Given the description of an element on the screen output the (x, y) to click on. 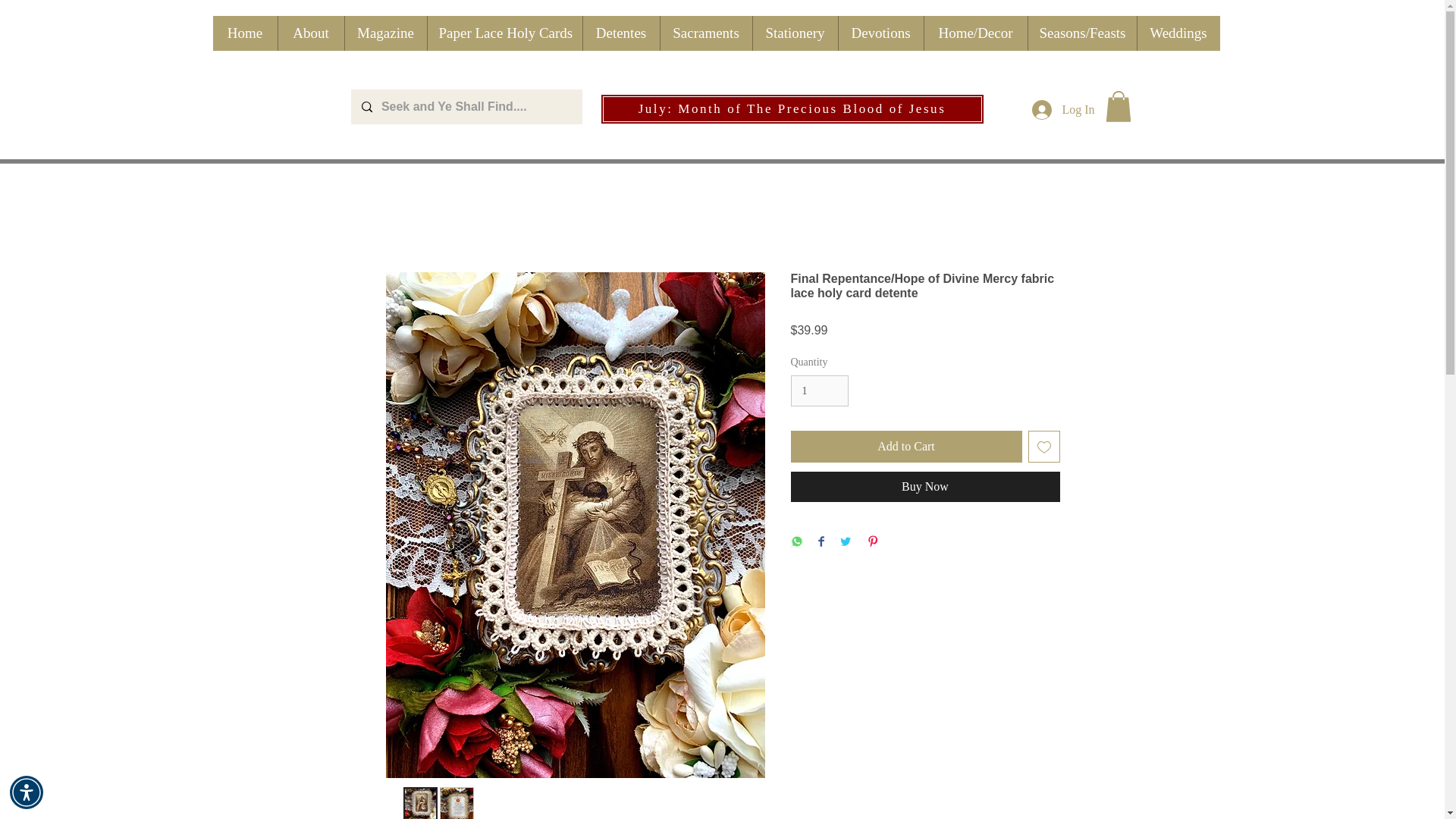
Accessibility Menu (26, 792)
Home (244, 32)
Stationery (795, 32)
Magazine (384, 32)
1 (818, 390)
